Given the description of an element on the screen output the (x, y) to click on. 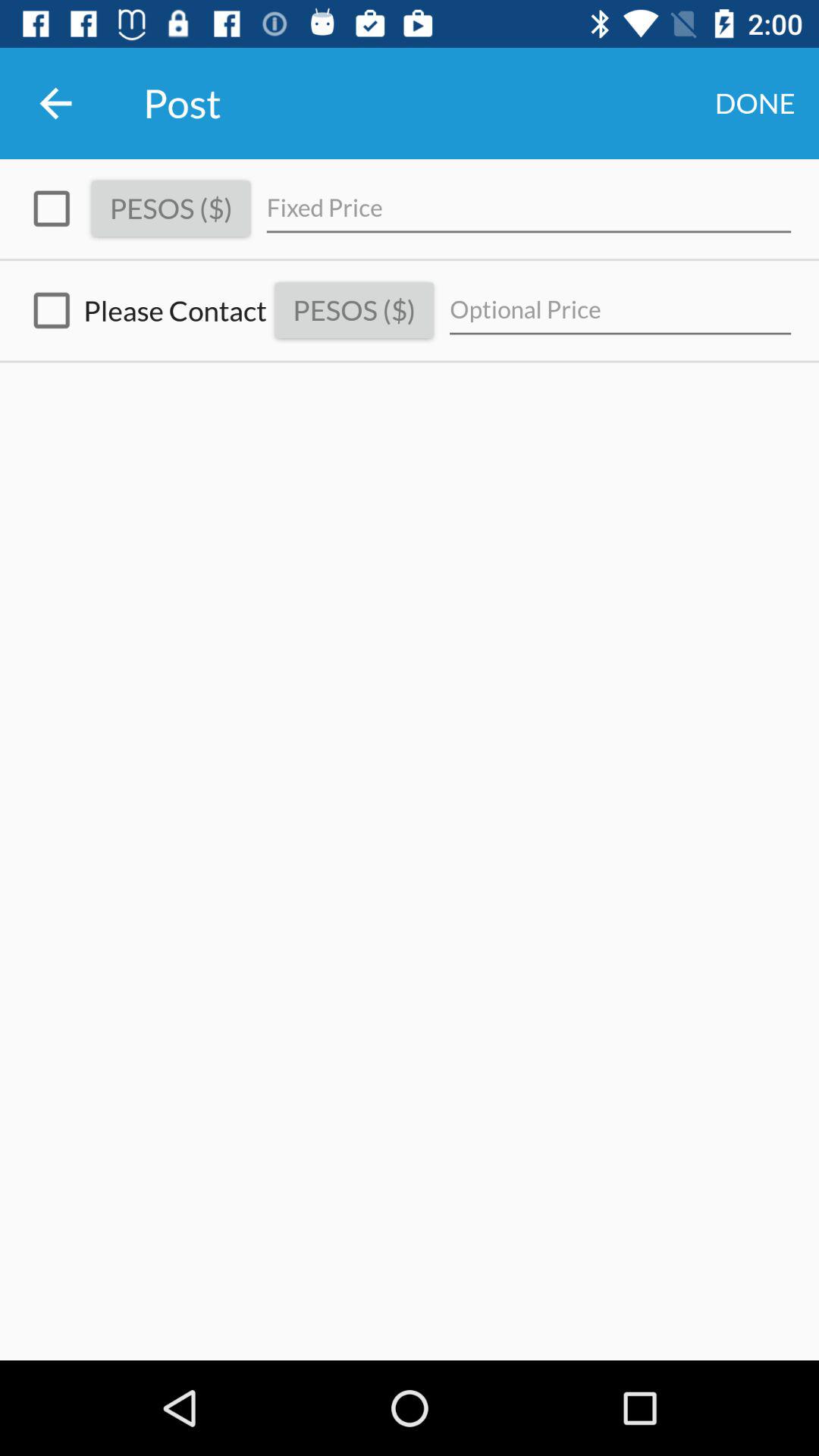
click the icon to the right of pesos ($) (620, 310)
